Given the description of an element on the screen output the (x, y) to click on. 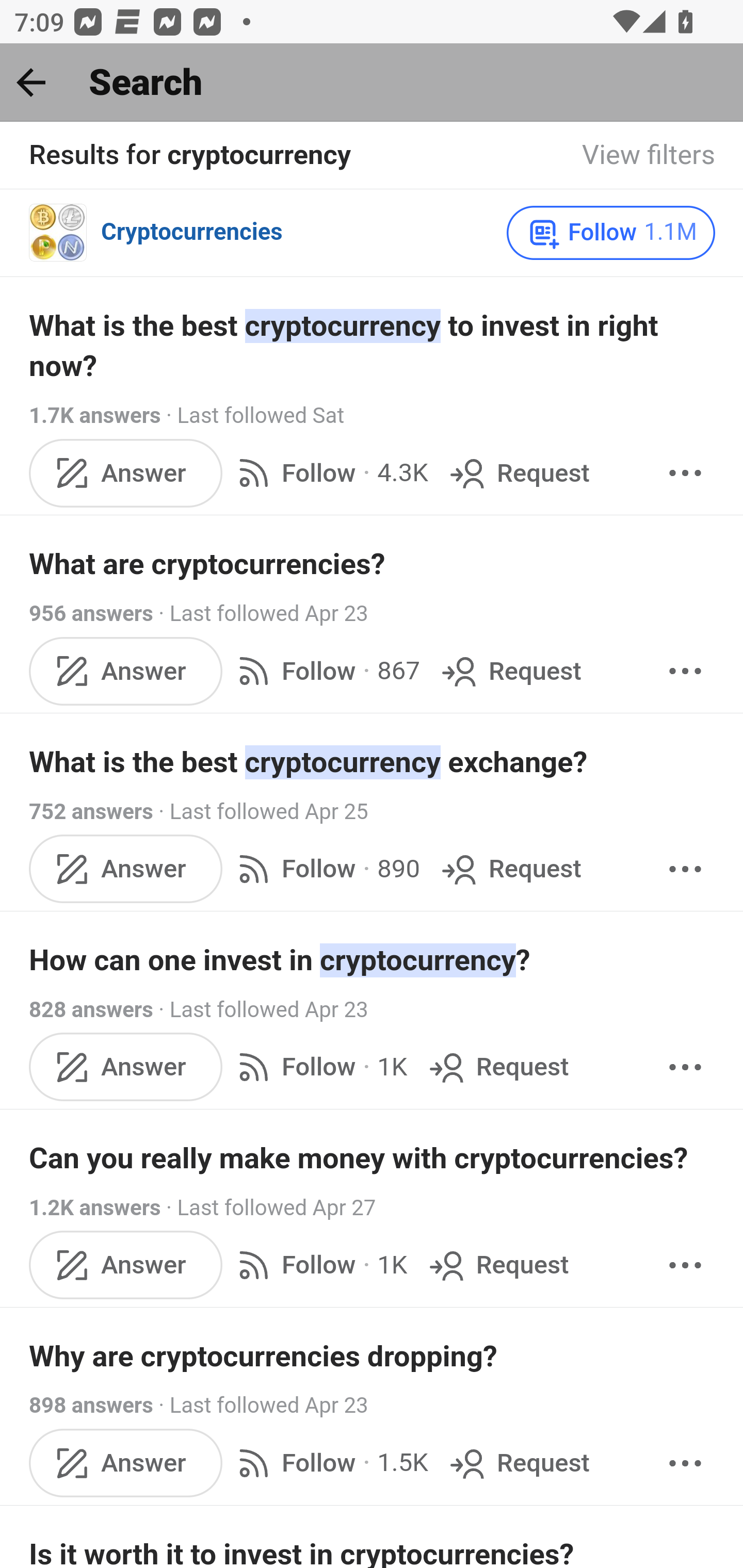
Back Search (371, 82)
Back (30, 82)
View filters (648, 155)
Follow 1.1M (610, 232)
1.7K answers 1.7K  answers (95, 414)
Answer (125, 472)
Follow · 4.3K (329, 472)
Request (517, 472)
More (684, 472)
What are cryptocurrencies? (372, 564)
956 answers 956  answers (90, 613)
Answer (125, 671)
Follow · 867 (324, 671)
Request (509, 671)
More (684, 671)
What is the best cryptocurrency exchange? (372, 762)
752 answers 752  answers (90, 812)
Answer (125, 868)
Follow · 890 (324, 868)
Request (509, 868)
More (684, 868)
How can one invest in cryptocurrency? (372, 961)
828 answers 828  answers (90, 1009)
Answer (125, 1066)
Follow · 1K (318, 1066)
Request (496, 1066)
More (684, 1066)
Can you really make money with cryptocurrencies? (372, 1158)
1.2K answers 1.2K  answers (95, 1207)
Answer (125, 1264)
Follow · 1K (318, 1264)
Request (496, 1264)
More (684, 1264)
Why are cryptocurrencies dropping? (372, 1356)
898 answers 898  answers (90, 1405)
Answer (125, 1463)
Follow · 1.5K (329, 1463)
Request (517, 1463)
More (684, 1463)
Is it worth it to invest in cryptocurrencies? (372, 1550)
